Given the description of an element on the screen output the (x, y) to click on. 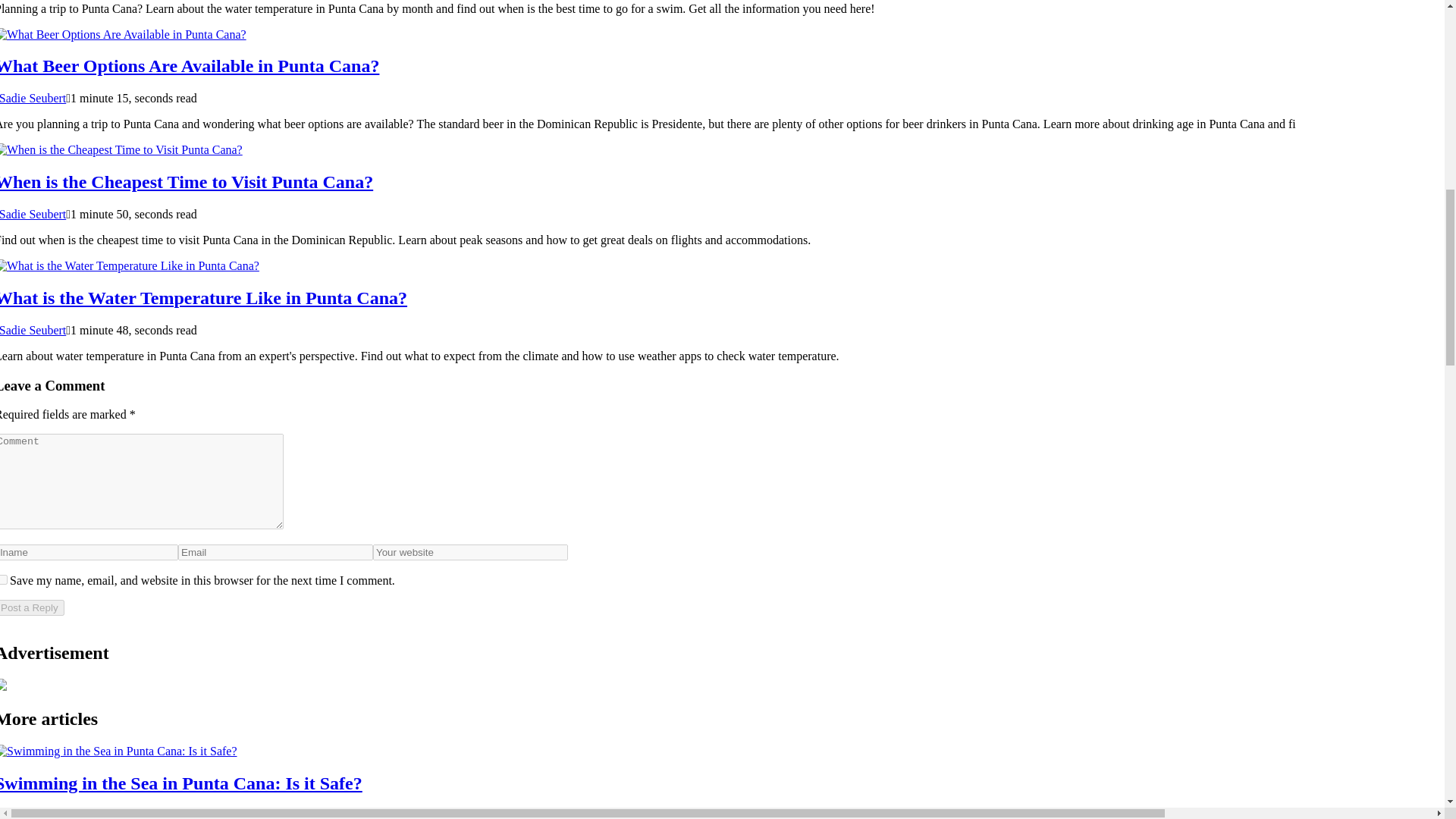
Post a Reply (32, 607)
Swimming in the Sea in Punta Cana: Is it Safe? (181, 783)
Sadie Seubert (32, 97)
What Beer Options Are Available in Punta Cana? (189, 66)
Posts by Sadie Seubert (32, 97)
Sadie Seubert (32, 214)
Posts by Sadie Seubert (32, 329)
Post a Reply (32, 607)
What is the Water Temperature Like in Punta Cana? (203, 297)
Sadie Seubert (32, 329)
When is the Cheapest Time to Visit Punta Cana? (186, 181)
Posts by Sadie Seubert (32, 214)
